Given the description of an element on the screen output the (x, y) to click on. 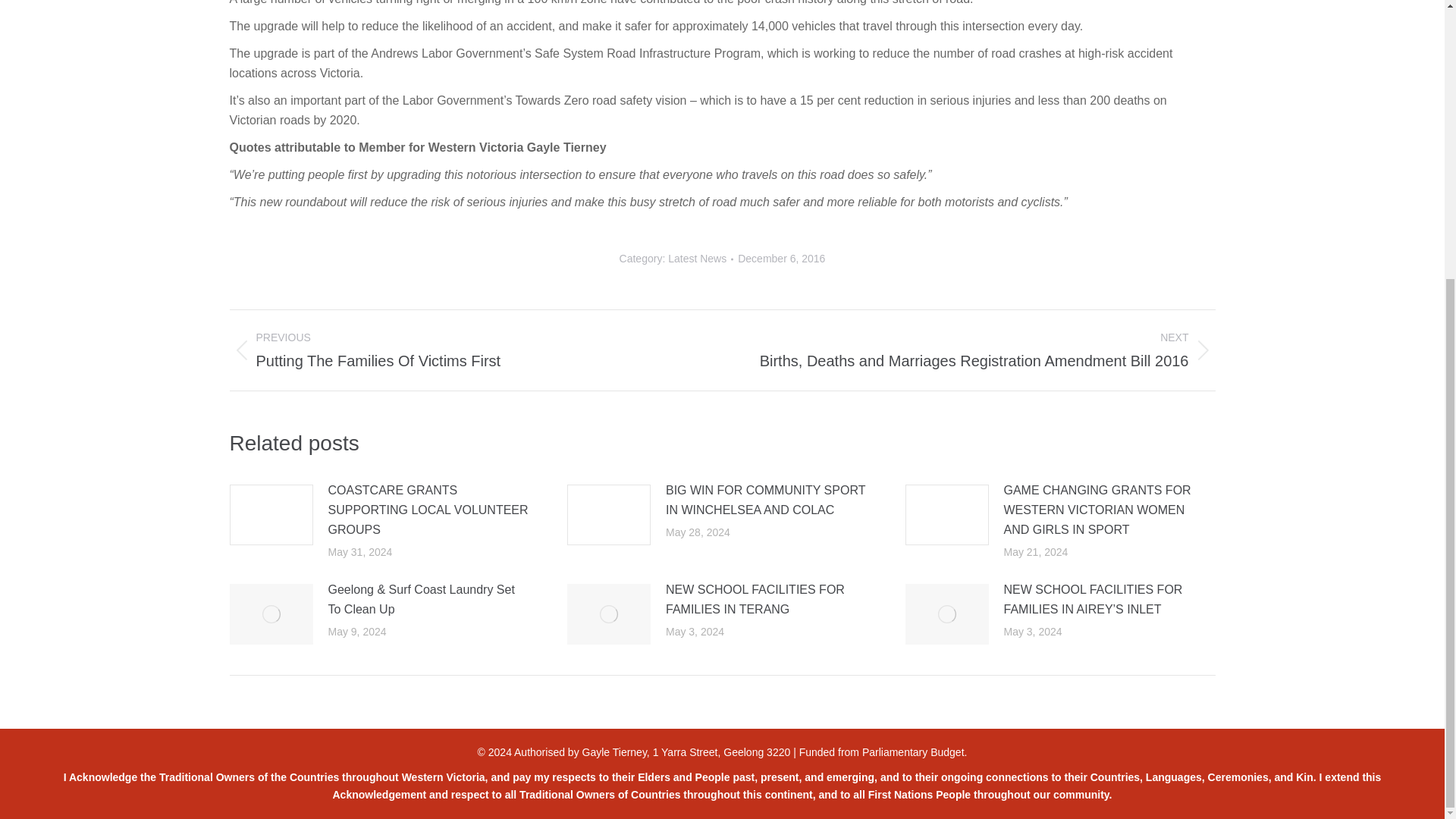
3:56 pm (781, 258)
